Given the description of an element on the screen output the (x, y) to click on. 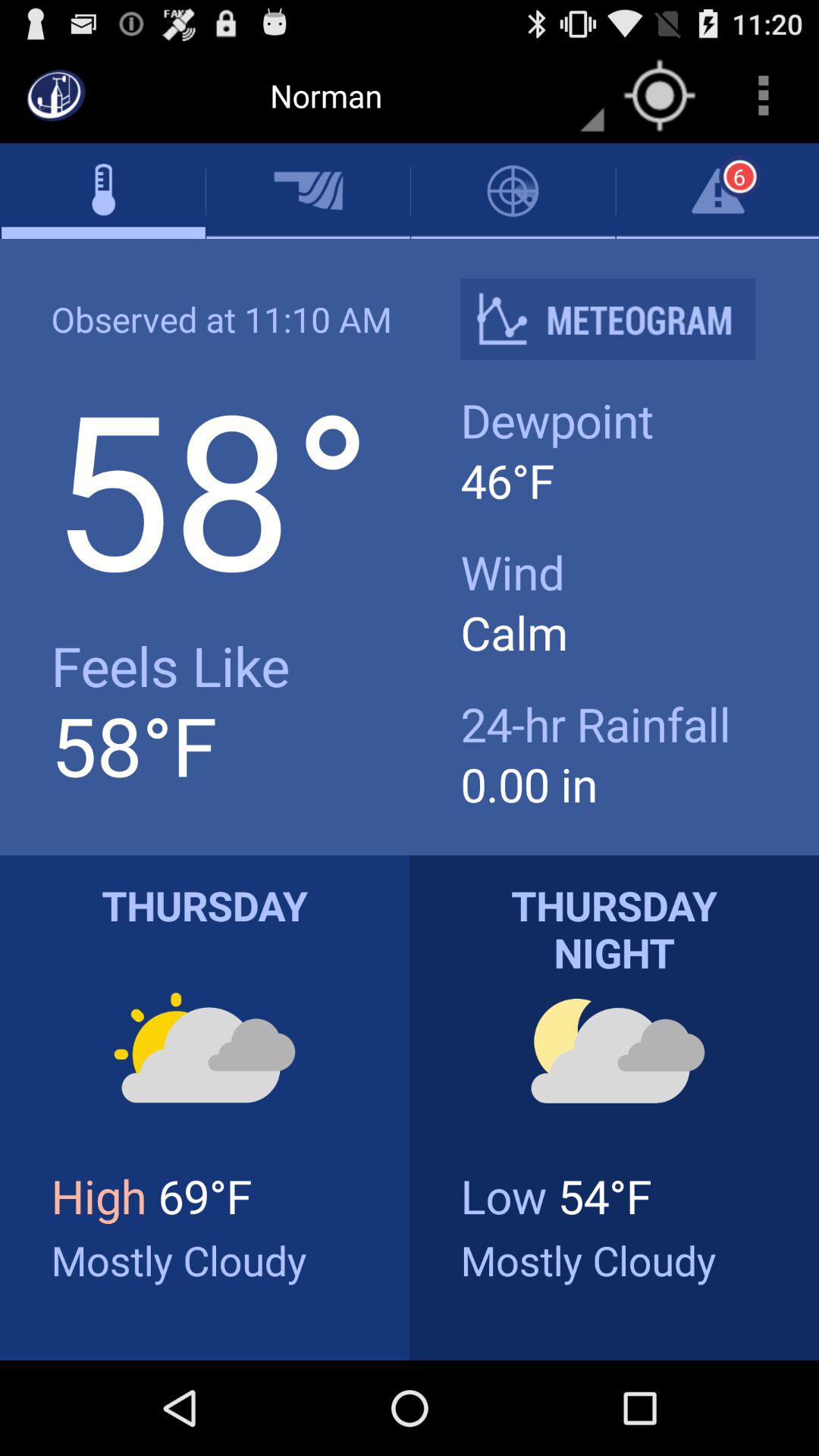
select meteogram (619, 319)
